Given the description of an element on the screen output the (x, y) to click on. 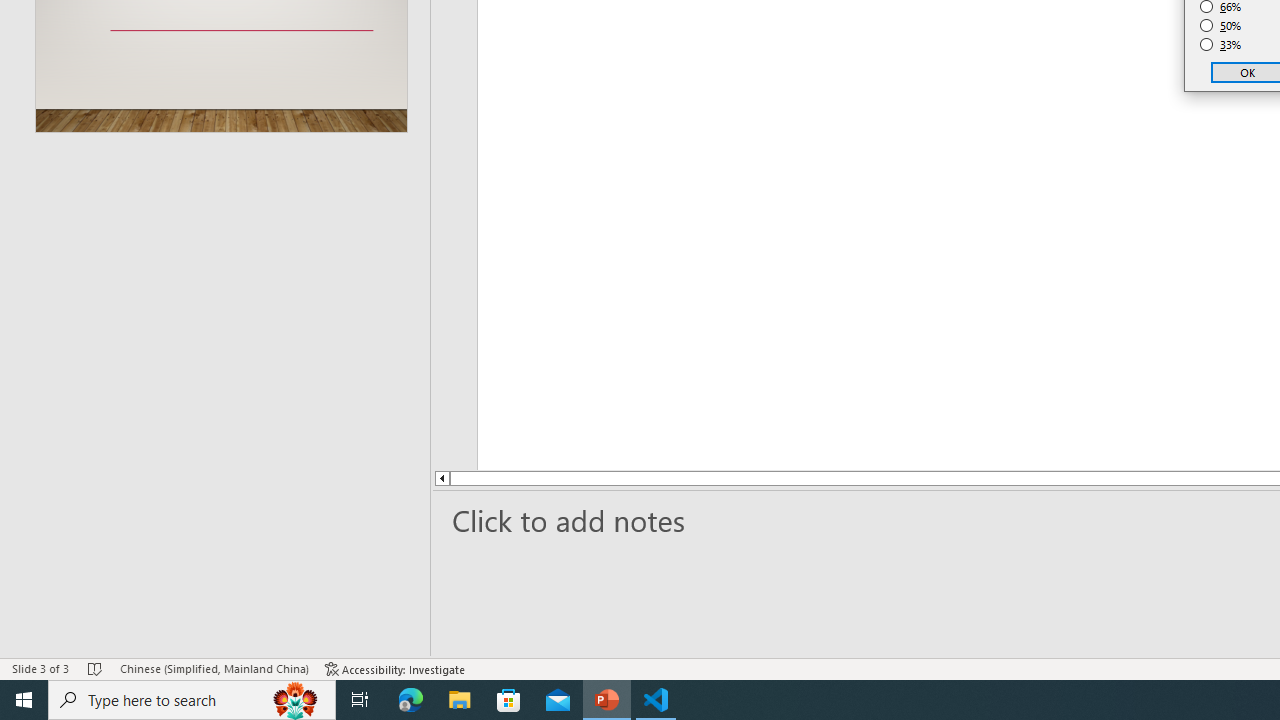
50% (1221, 25)
33% (1221, 44)
